Given the description of an element on the screen output the (x, y) to click on. 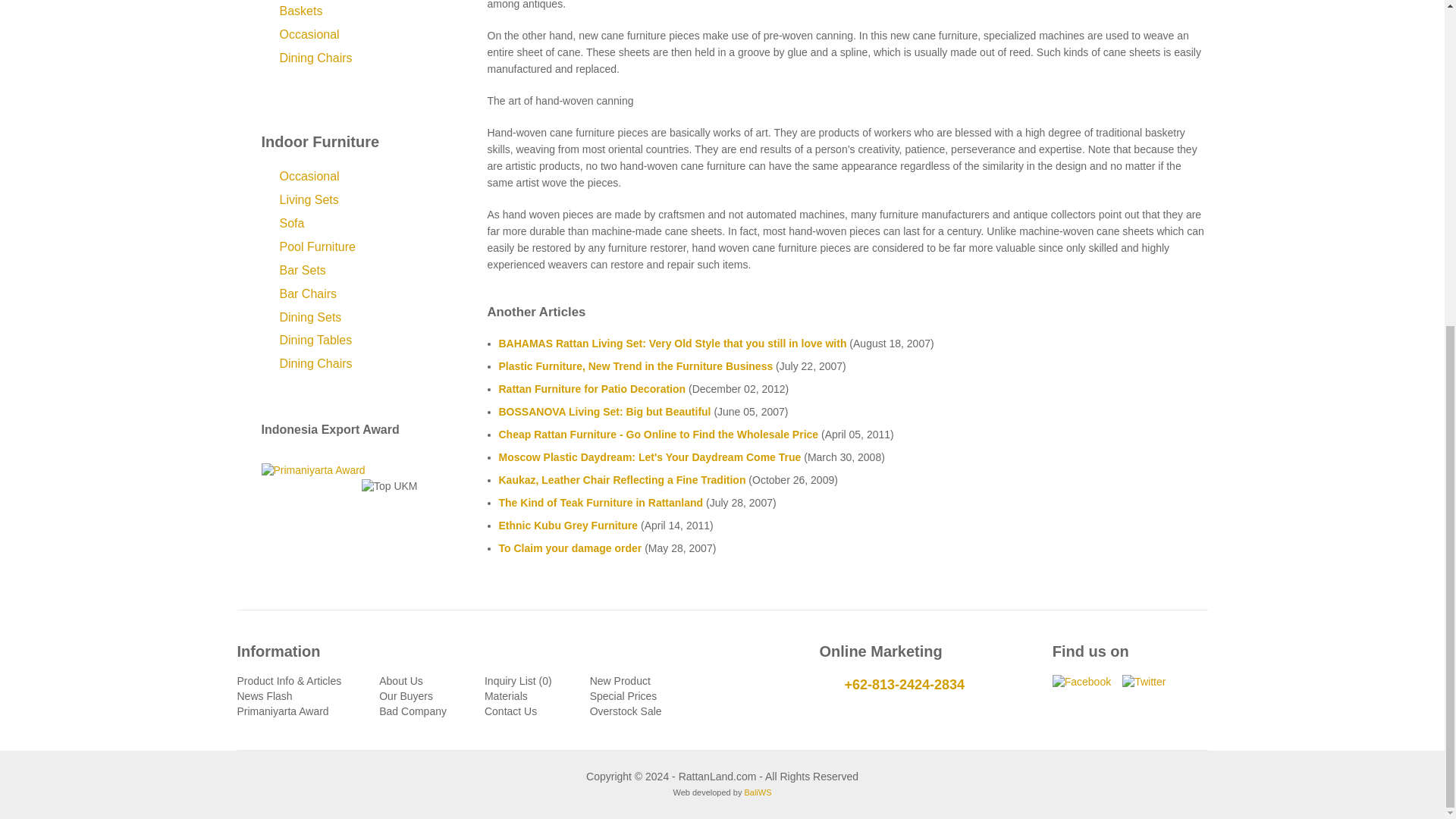
Sofa (291, 223)
Occasional (309, 177)
Bar Chairs (307, 294)
Occasional (309, 34)
Baskets (300, 11)
Living Sets (308, 200)
Bar Sets (301, 270)
Pool Furniture (317, 247)
Dining Chairs (315, 58)
